Given the description of an element on the screen output the (x, y) to click on. 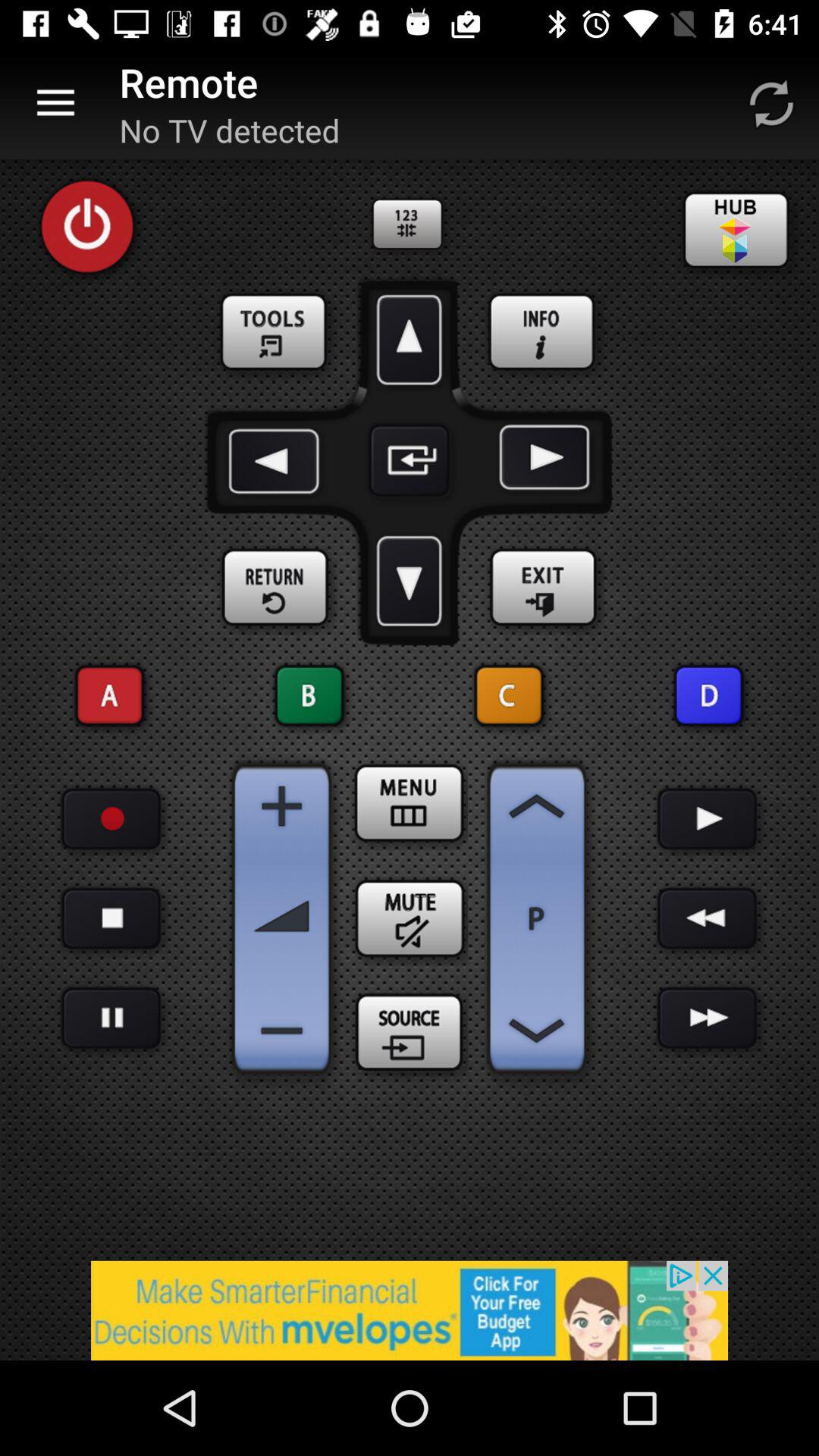
stop option (111, 1018)
